Given the description of an element on the screen output the (x, y) to click on. 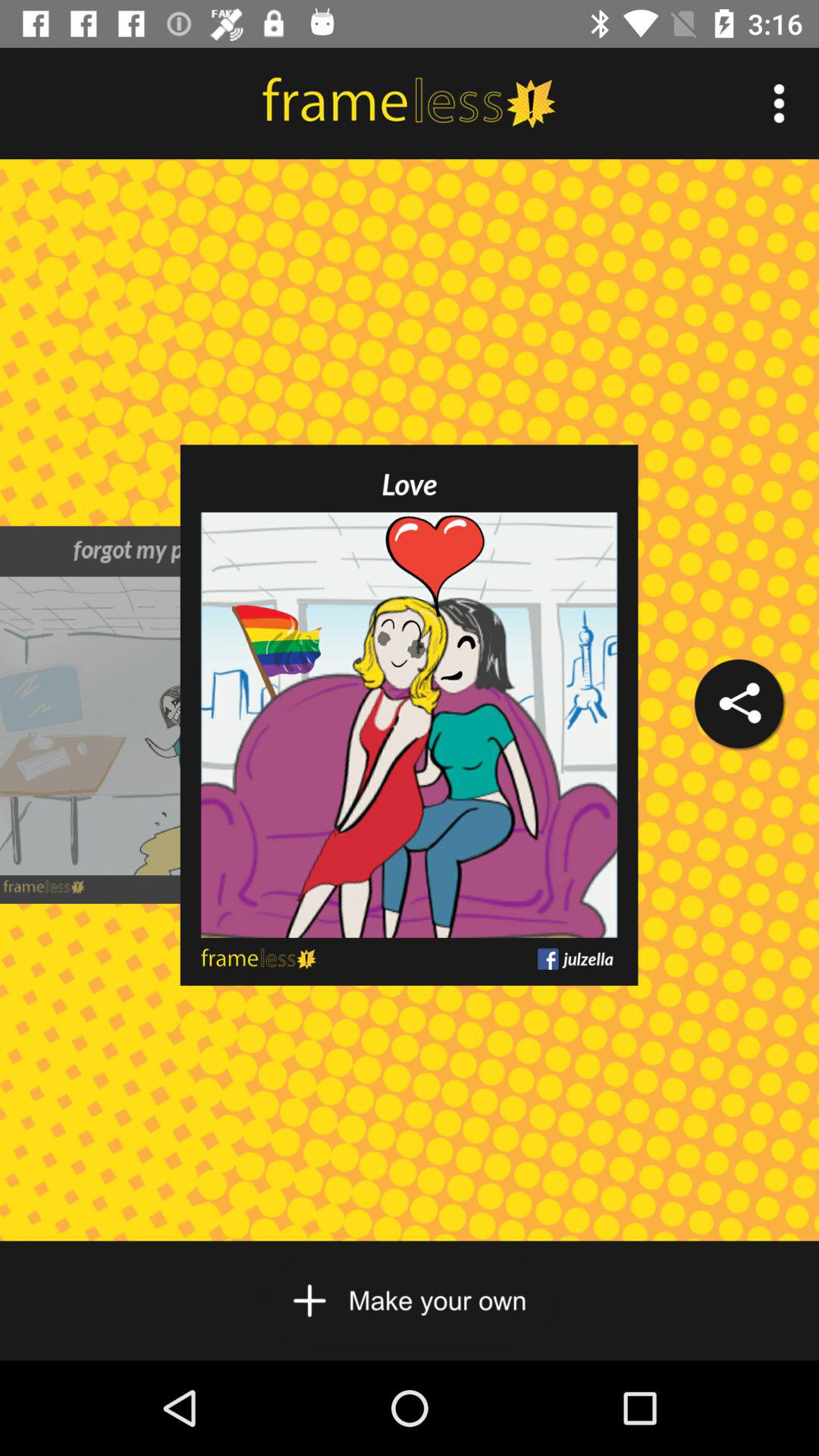
turn on item at the top right corner (779, 103)
